Given the description of an element on the screen output the (x, y) to click on. 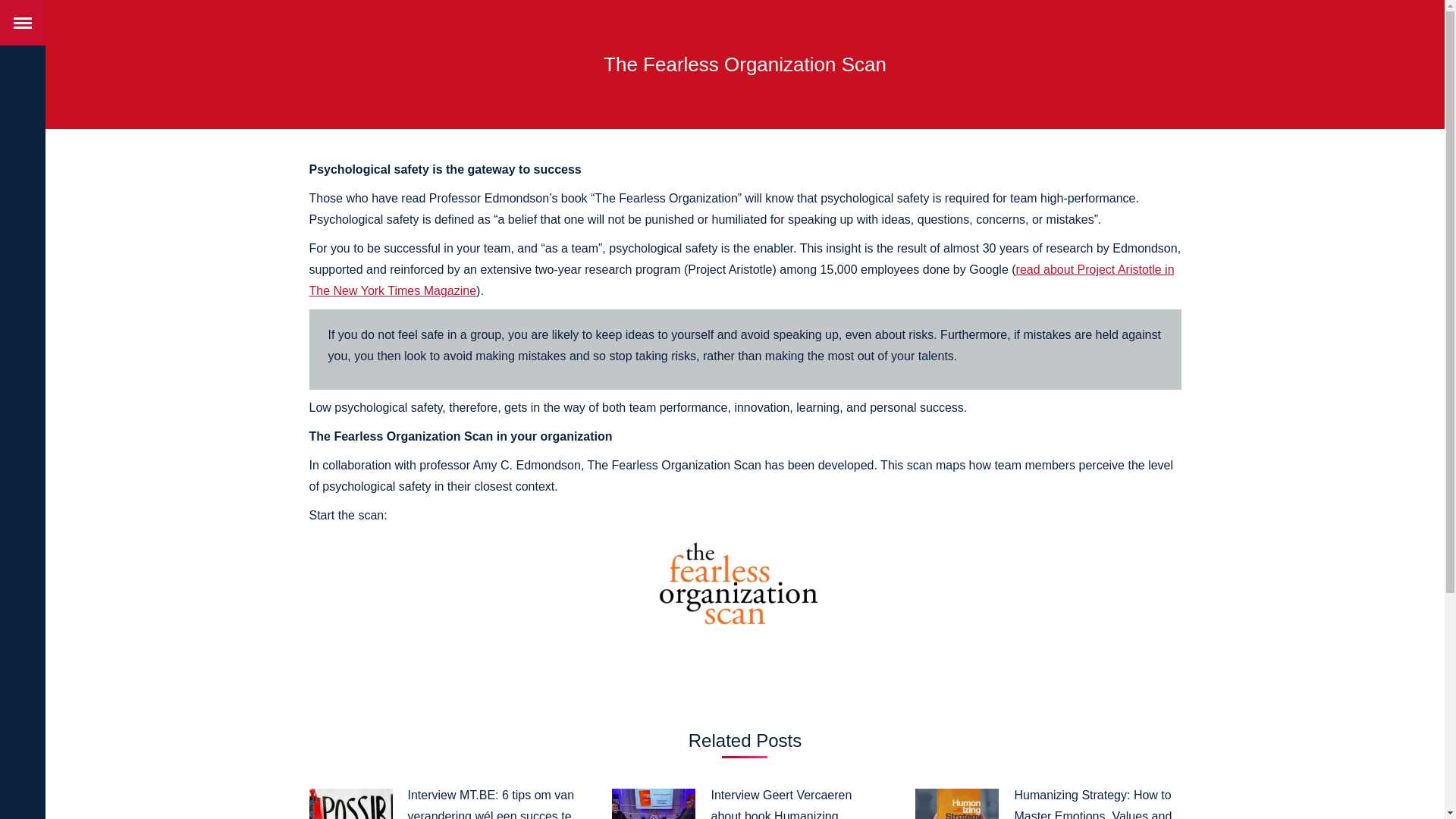
read about Project Aristotle in The New York Times Magazine Element type: text (741, 280)
Contact@b15.be Element type: text (581, 762)
